Given the description of an element on the screen output the (x, y) to click on. 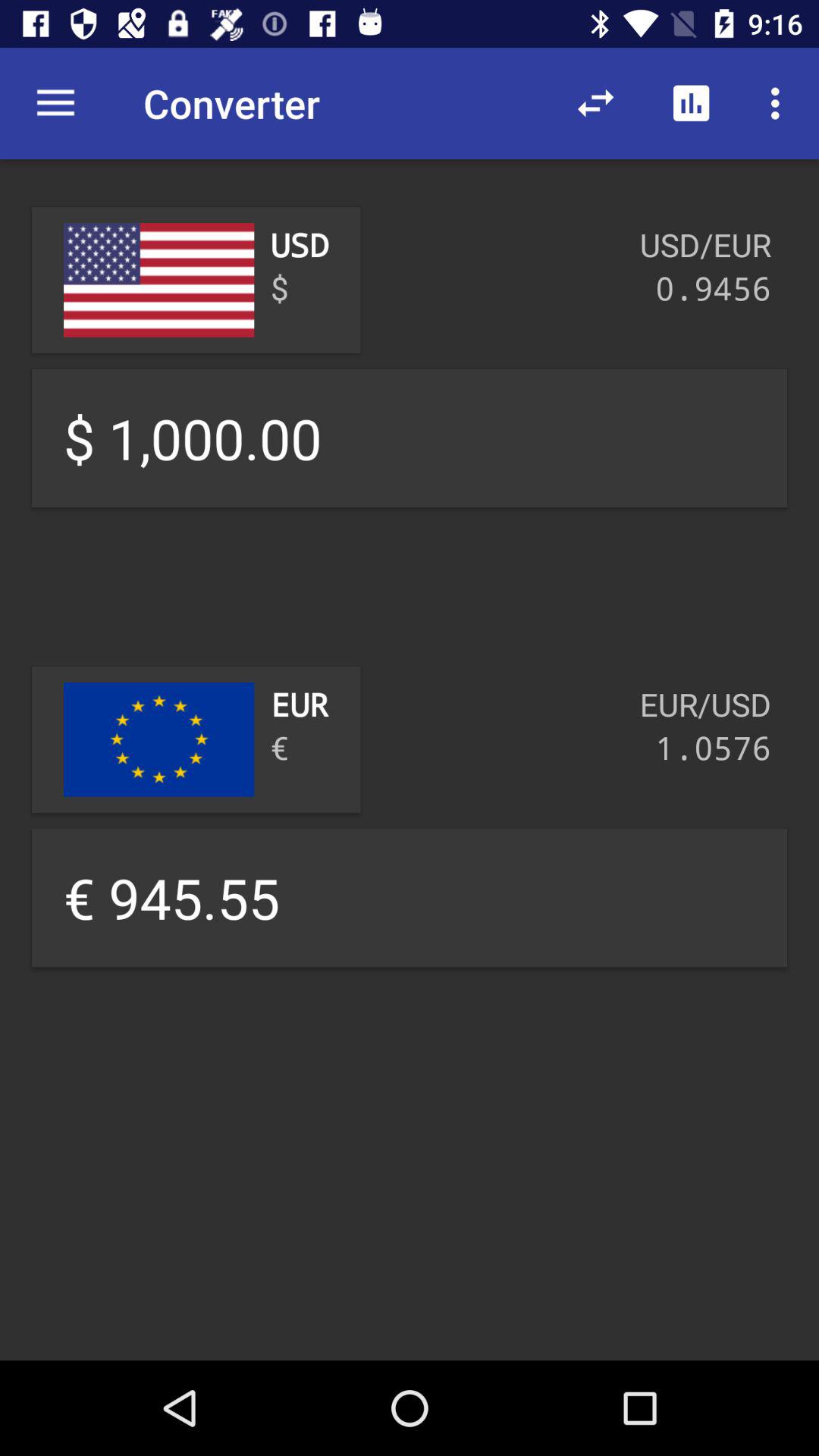
choose item above usd/eur icon (779, 103)
